Given the description of an element on the screen output the (x, y) to click on. 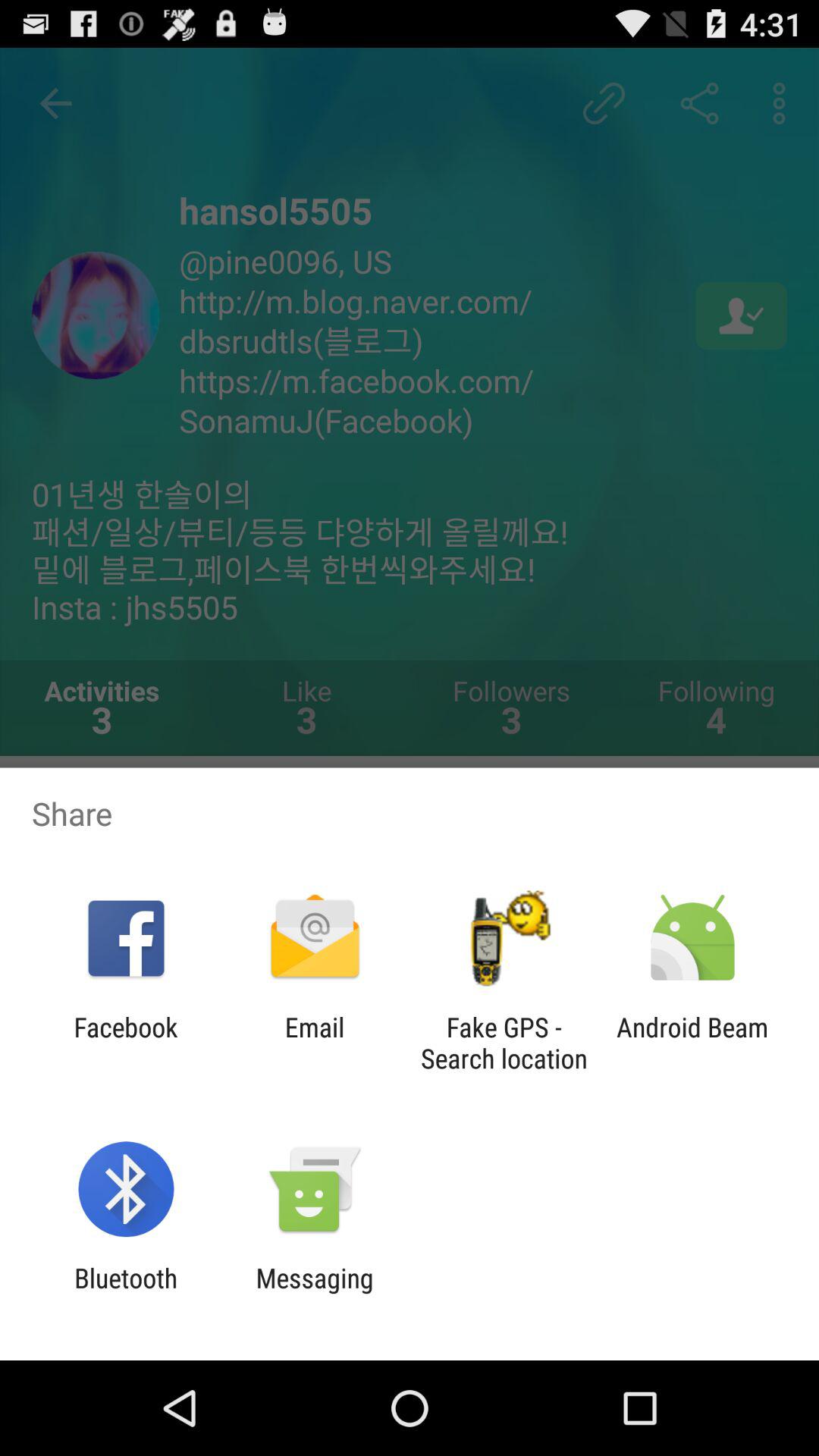
press the fake gps search item (503, 1042)
